Given the description of an element on the screen output the (x, y) to click on. 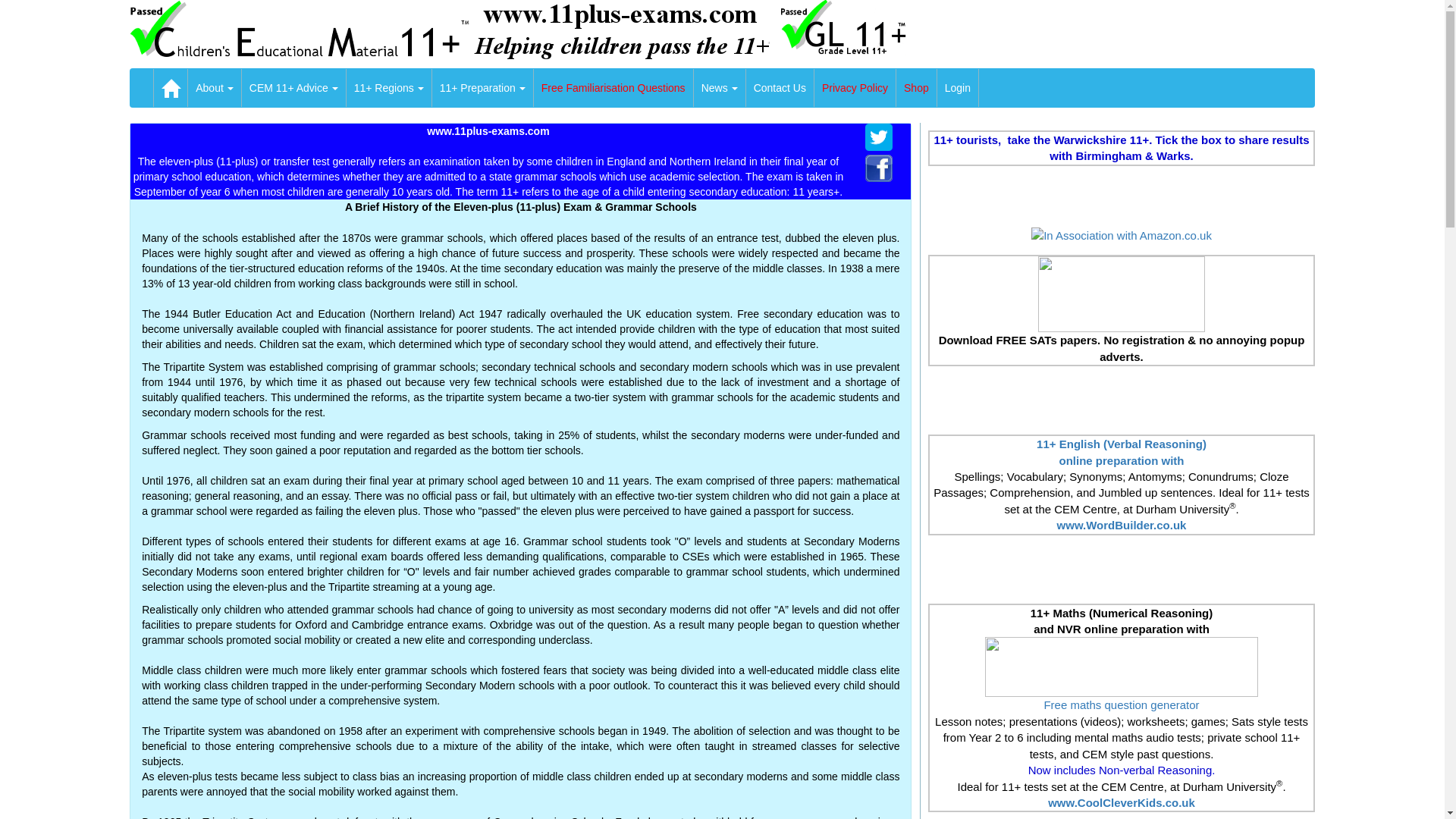
www.CoolCleverKids.co.uk Element type: text (1121, 802)
Privacy Policy Element type: text (854, 87)
Login Element type: text (957, 87)
Contact Us Element type: text (779, 87)
Free maths question generator Element type: text (1120, 704)
www.WordBuilder.co.uk Element type: text (1121, 524)
11+ English (Verbal Reasoning)
online preparation with Element type: text (1121, 451)
Advertisement Element type: hover (1121, 569)
11+ Regions Element type: text (388, 87)
Advertisement Element type: hover (1121, 400)
News Element type: text (719, 87)
About Element type: text (214, 87)
Free Familiarisation Questions Element type: text (613, 87)
11+ Preparation Element type: text (482, 87)
CEM 11+ Advice Element type: text (293, 87)
Shop Element type: text (916, 87)
